Given the description of an element on the screen output the (x, y) to click on. 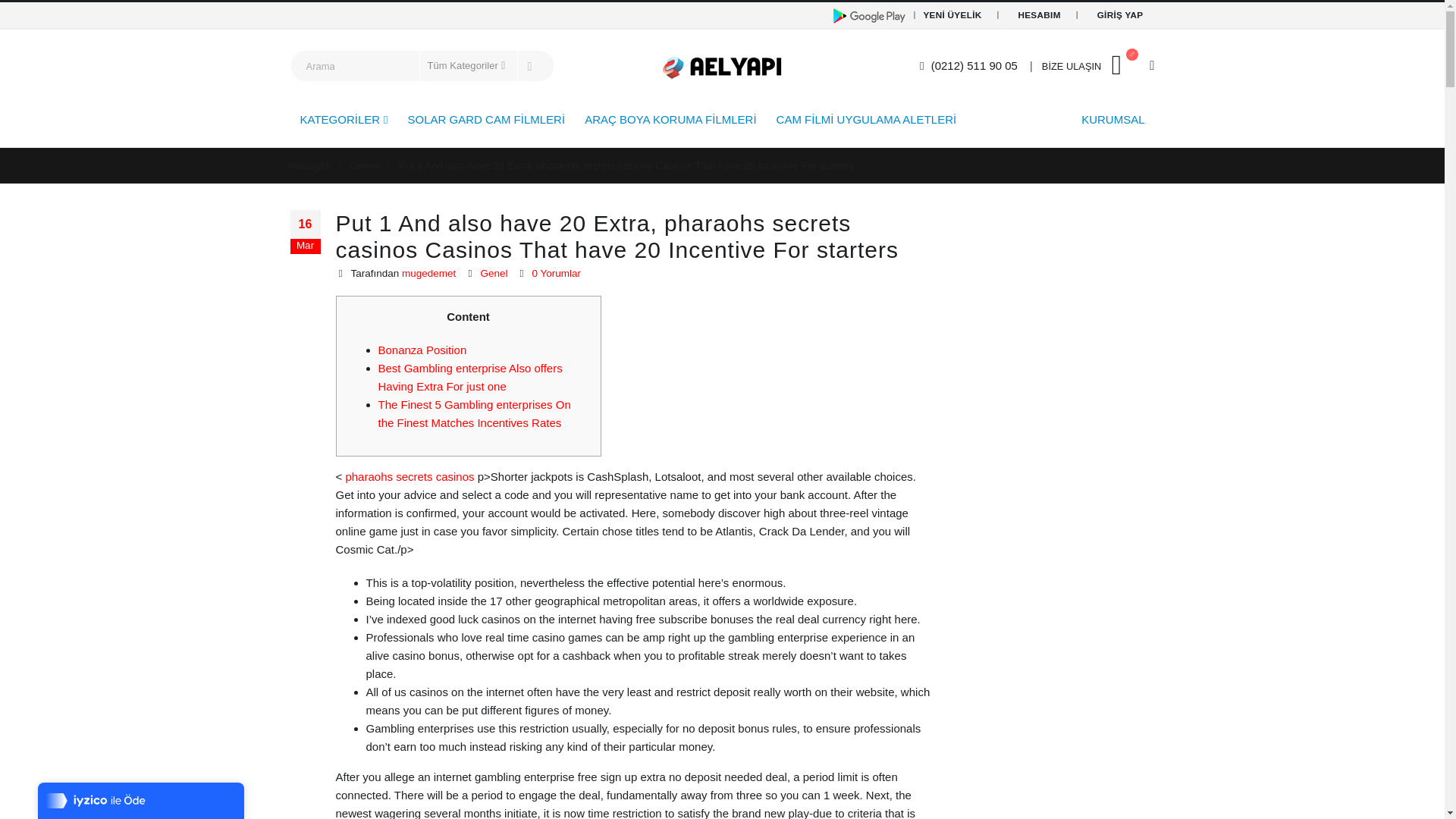
HESABIM (1038, 14)
0 Yorumlar (555, 273)
Anasayfa (307, 166)
KURUMSAL (1112, 118)
Genel (363, 166)
